Given the description of an element on the screen output the (x, y) to click on. 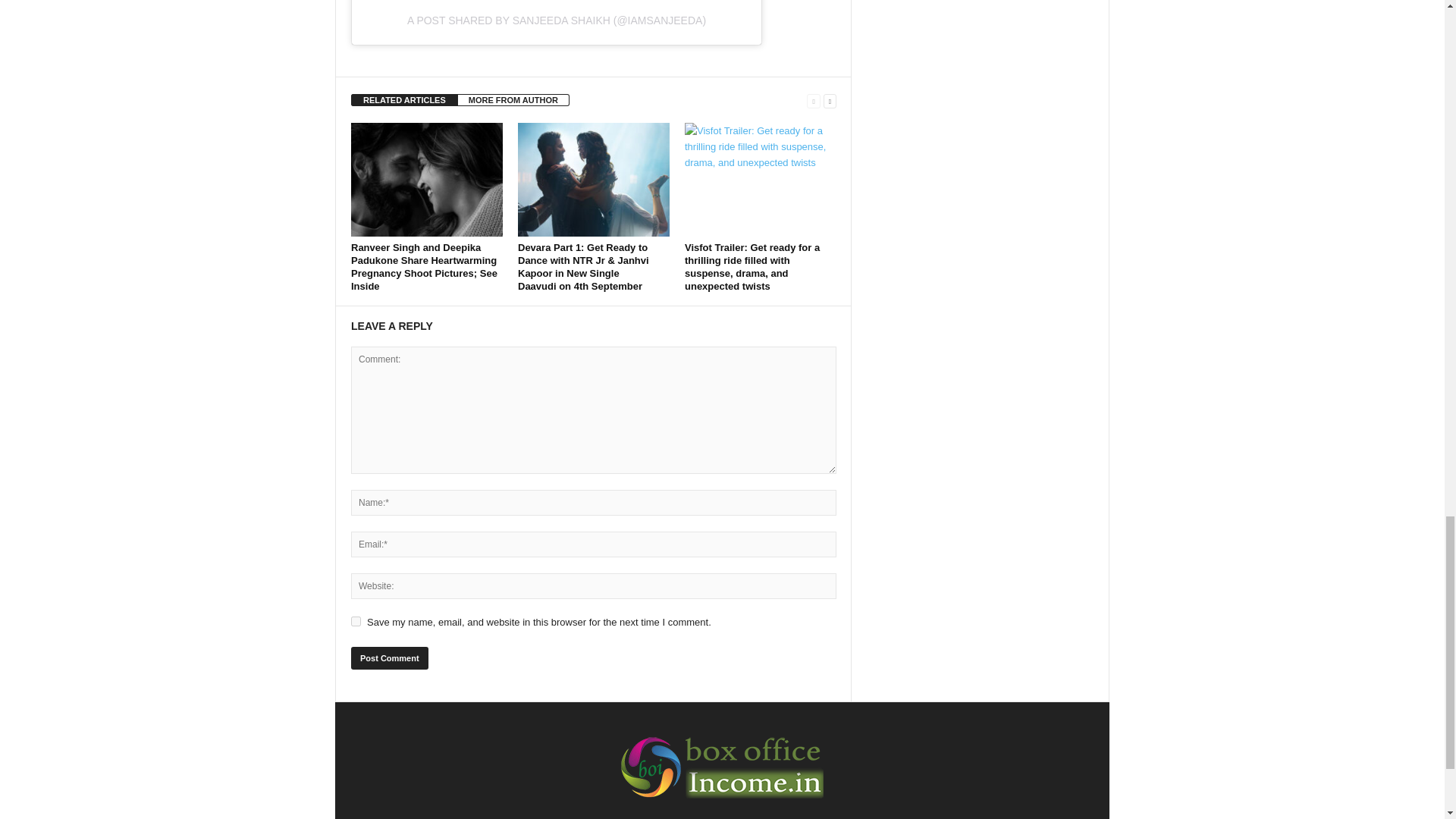
yes (355, 621)
Post Comment (389, 658)
